Given the description of an element on the screen output the (x, y) to click on. 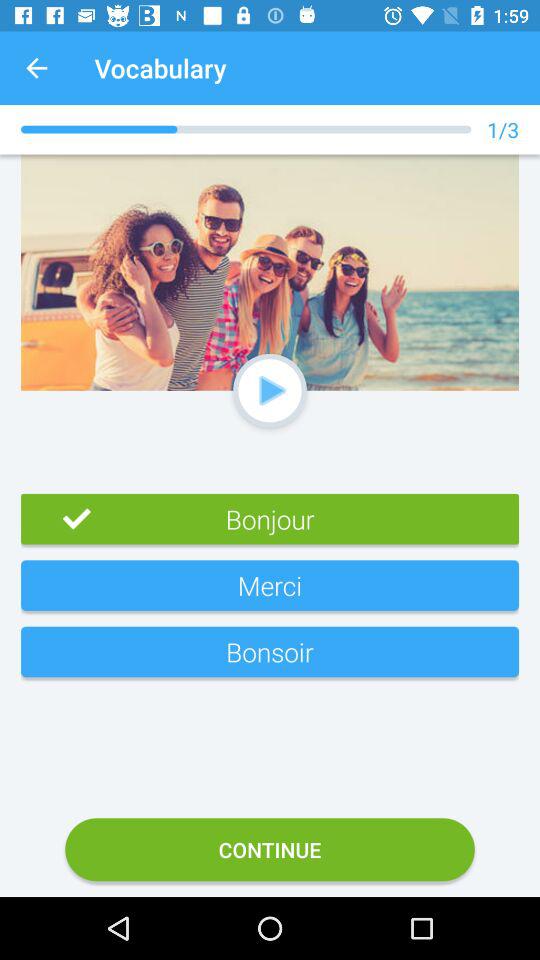
press continue item (269, 849)
